Given the description of an element on the screen output the (x, y) to click on. 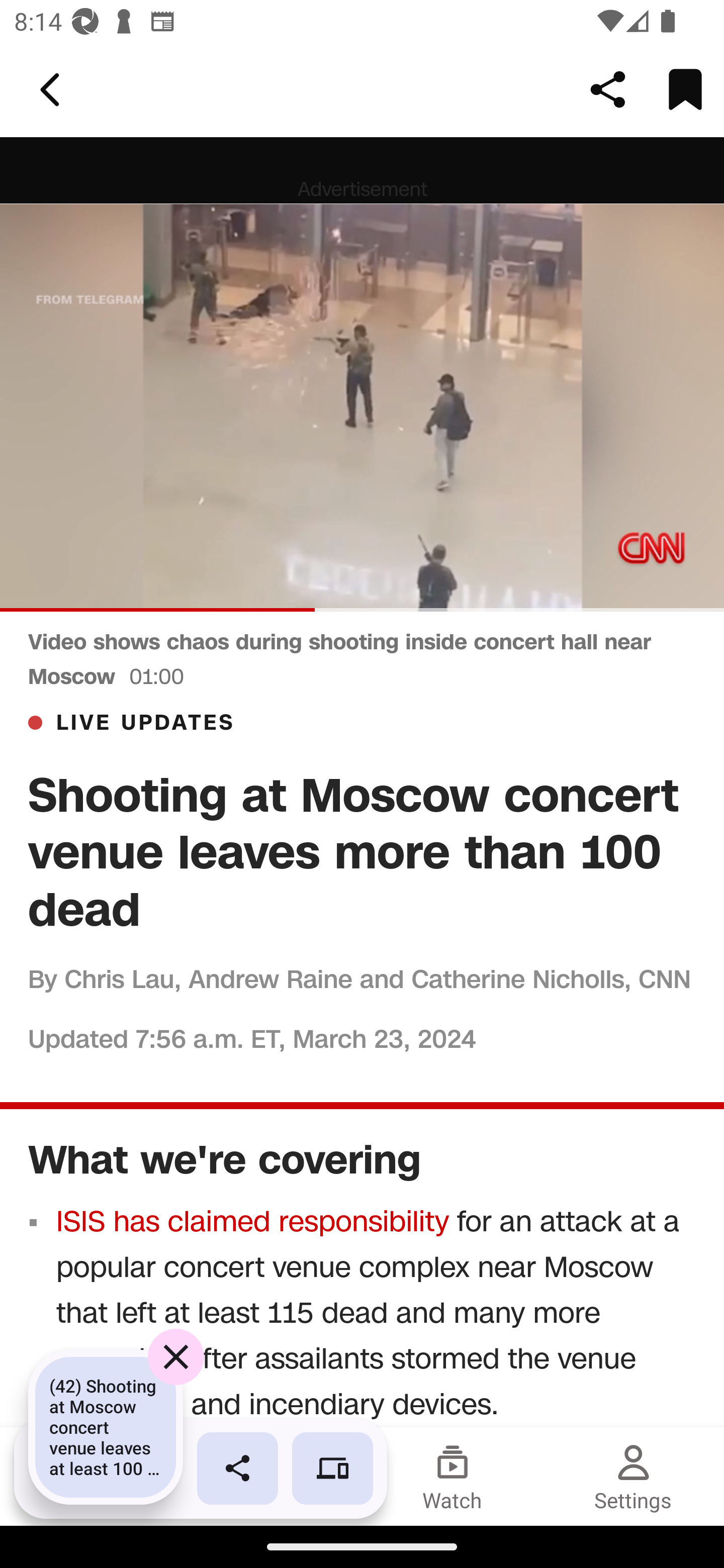
Back Button (52, 89)
Share (607, 89)
Bookmark Selected (685, 89)
Andrew Raine (269, 978)
ISIS has claimed responsibility (253, 1221)
Watch (452, 1475)
Settings (633, 1475)
